Given the description of an element on the screen output the (x, y) to click on. 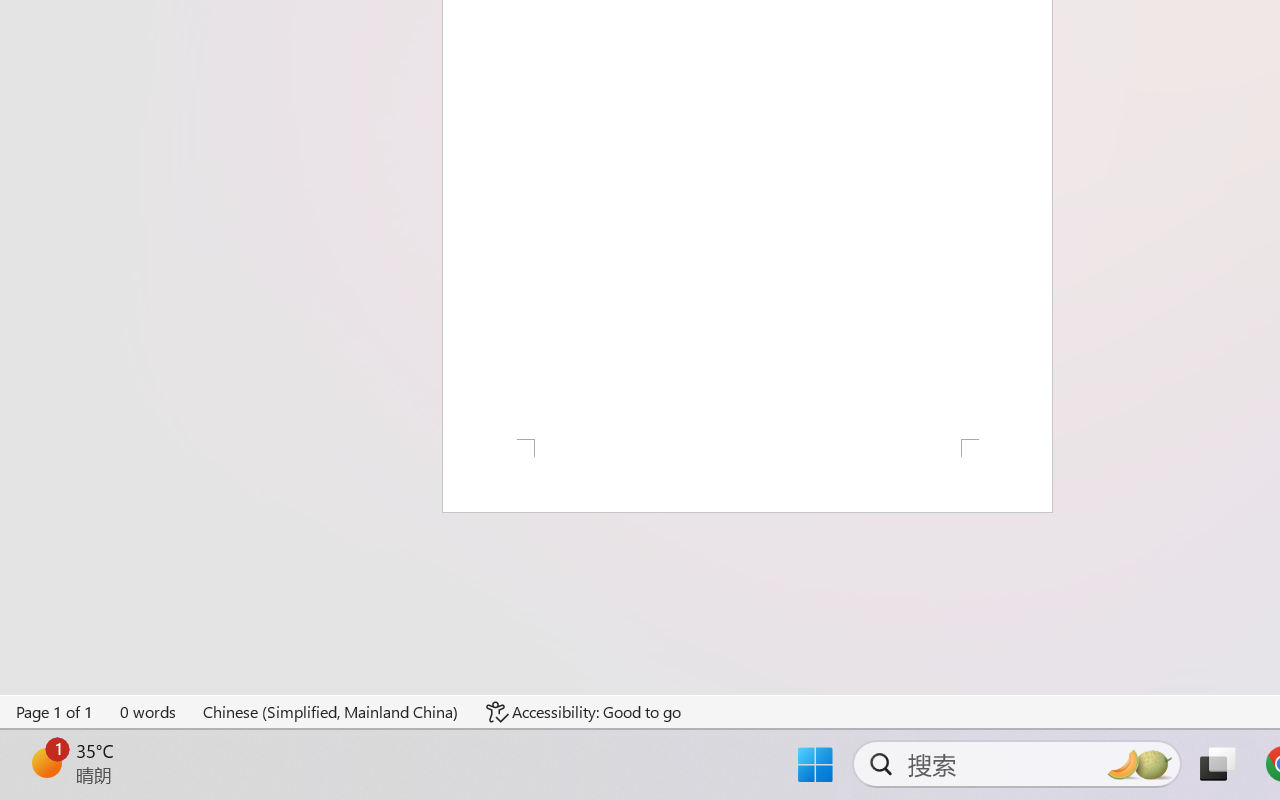
Language Chinese (Simplified, Mainland China) (331, 712)
